Given the description of an element on the screen output the (x, y) to click on. 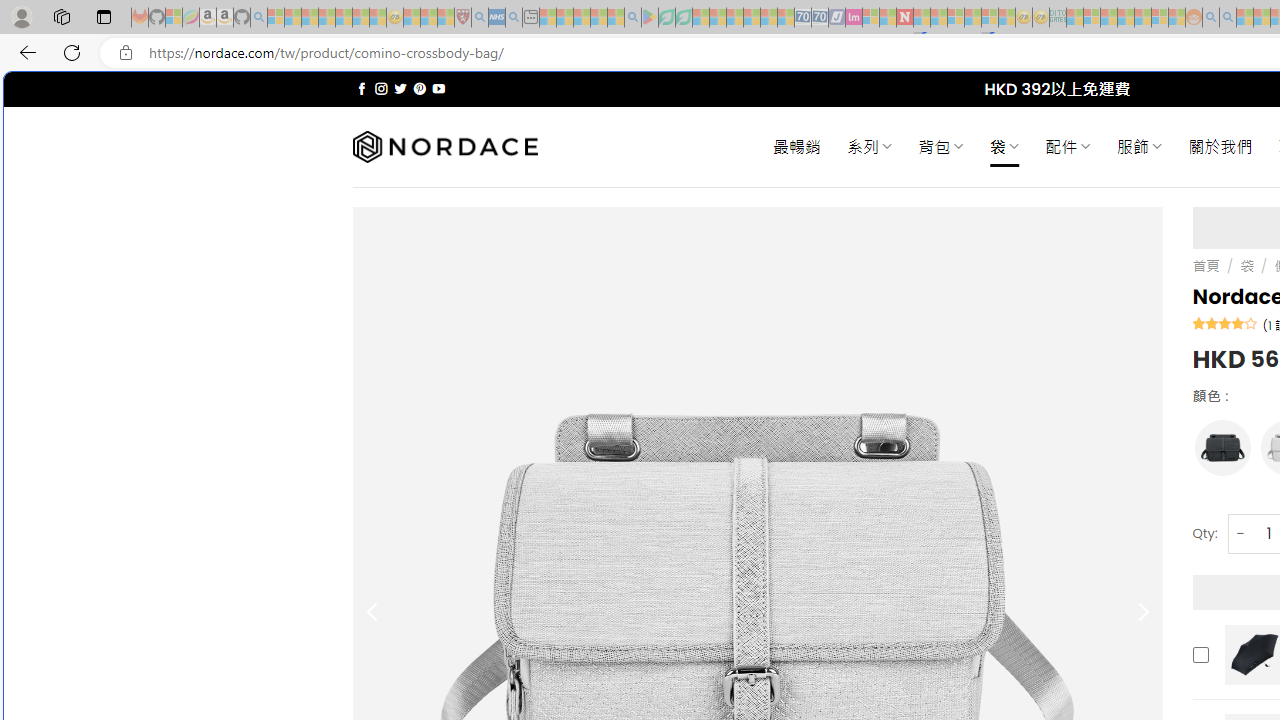
- (1240, 532)
Follow on Facebook (361, 88)
Follow on YouTube (438, 88)
